Given the description of an element on the screen output the (x, y) to click on. 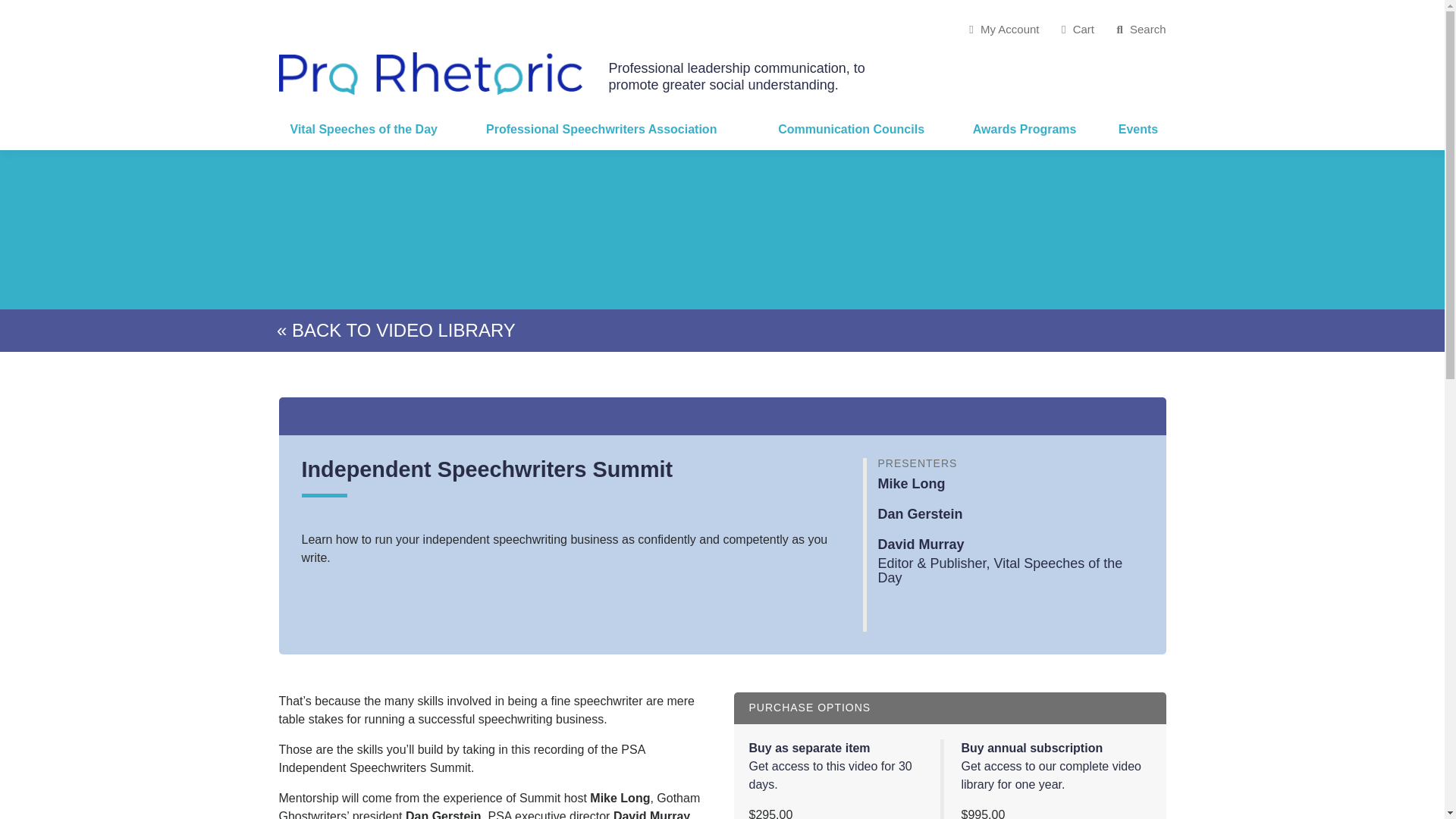
Events (1136, 128)
Vital Speeches of the Day (377, 128)
Professional Speechwriters Association (620, 128)
Communication Councils (863, 128)
Cart (1077, 29)
Awards Programs (1033, 128)
My Account (1004, 29)
